Given the description of an element on the screen output the (x, y) to click on. 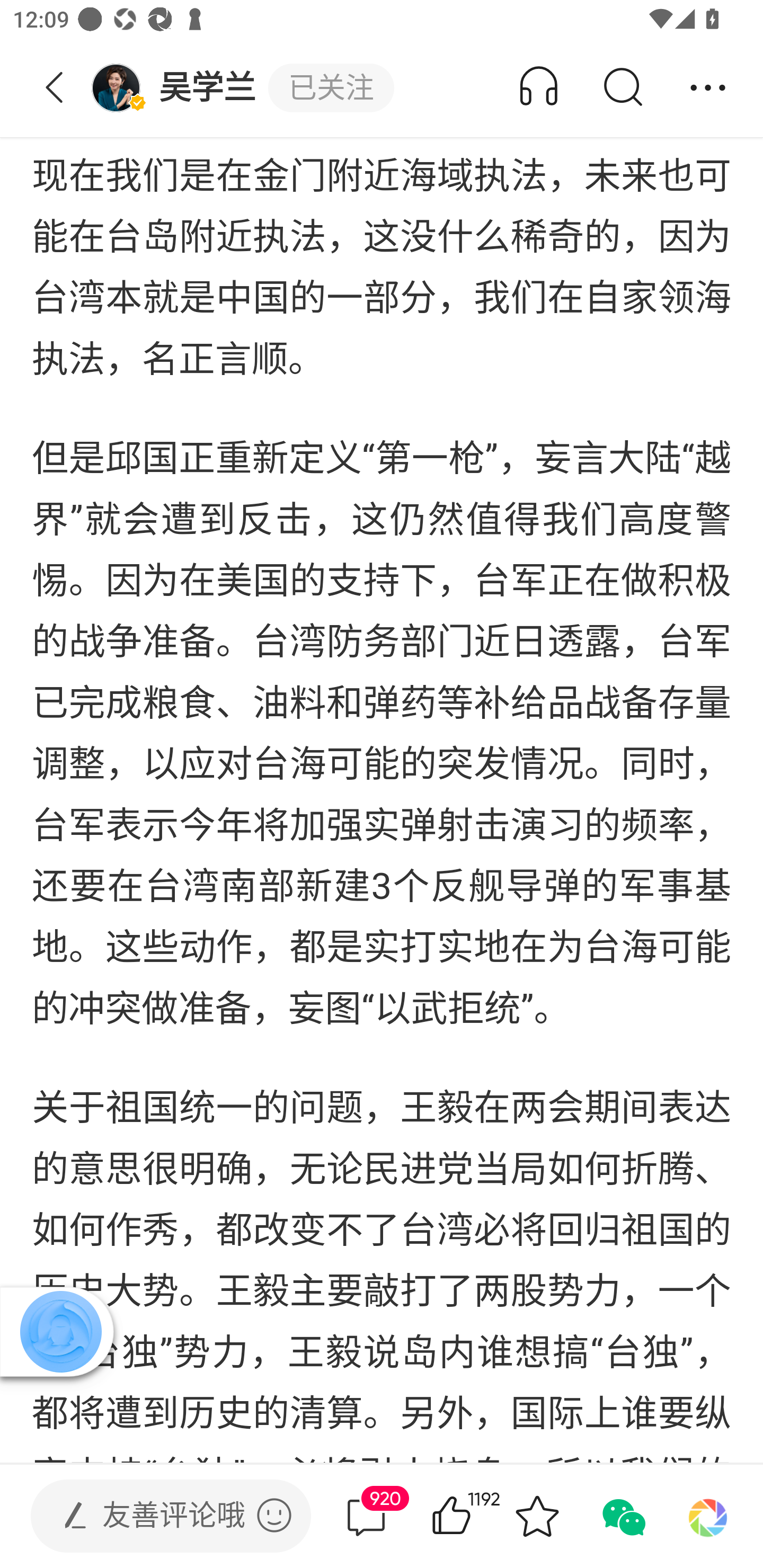
吴学兰 (179, 87)
搜索  (622, 87)
分享  (707, 87)
 返回 (54, 87)
已关注 (330, 88)
播放器 (60, 1331)
发表评论  友善评论哦 发表评论  (155, 1516)
920评论  920 评论 (365, 1516)
1192赞 (476, 1516)
收藏  (536, 1516)
分享到微信  (622, 1516)
分享到朋友圈 (707, 1516)
 (274, 1515)
